Given the description of an element on the screen output the (x, y) to click on. 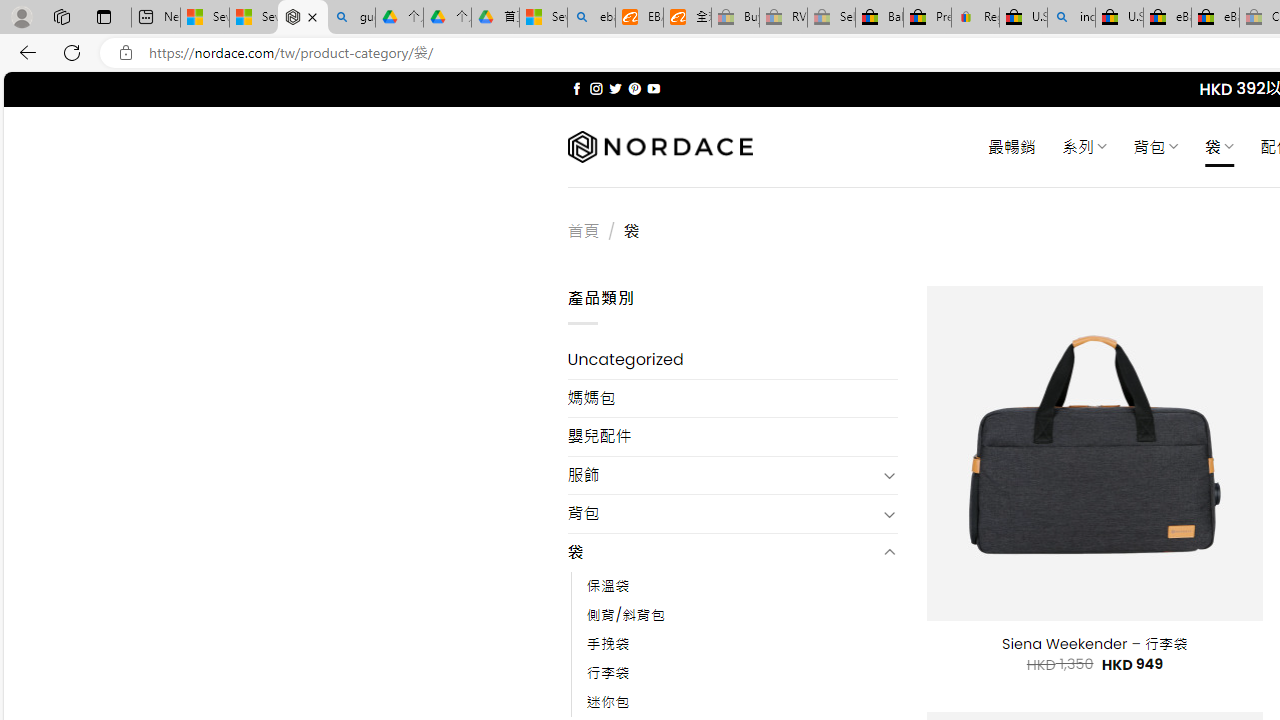
eBay Inc. Reports Third Quarter 2023 Results (1215, 17)
Follow on YouTube (653, 88)
U.S. State Privacy Disclosures - eBay Inc. (1119, 17)
